Given the description of an element on the screen output the (x, y) to click on. 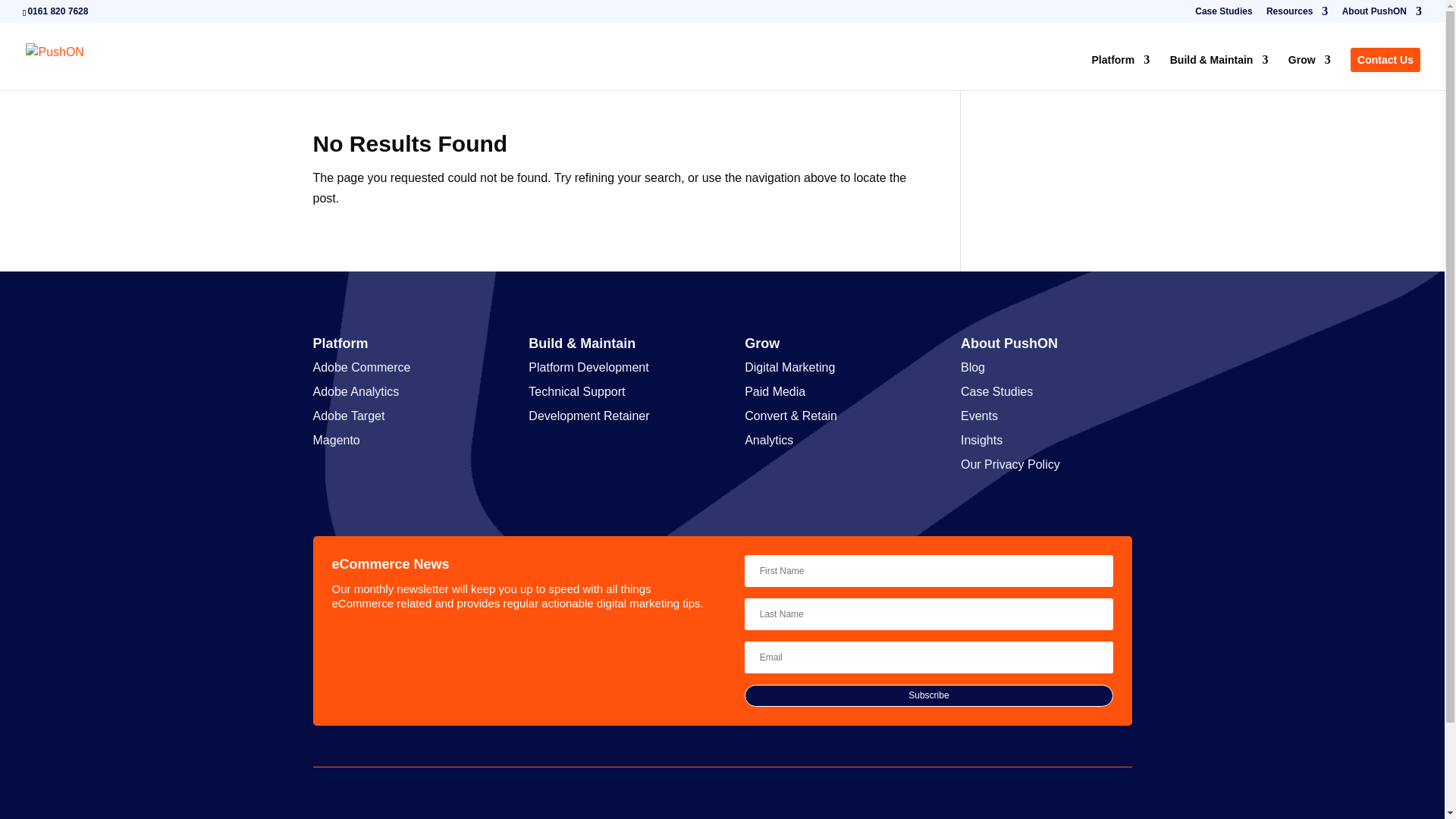
0161 820 7628 (57, 10)
Adobe Target (348, 415)
Adobe Commerce (361, 367)
Case Studies (1223, 14)
Adobe Analytics (355, 391)
Development Retainer (588, 415)
Grow (1309, 72)
Resources (1296, 14)
Platform Development (587, 367)
Platform (1120, 72)
